Given the description of an element on the screen output the (x, y) to click on. 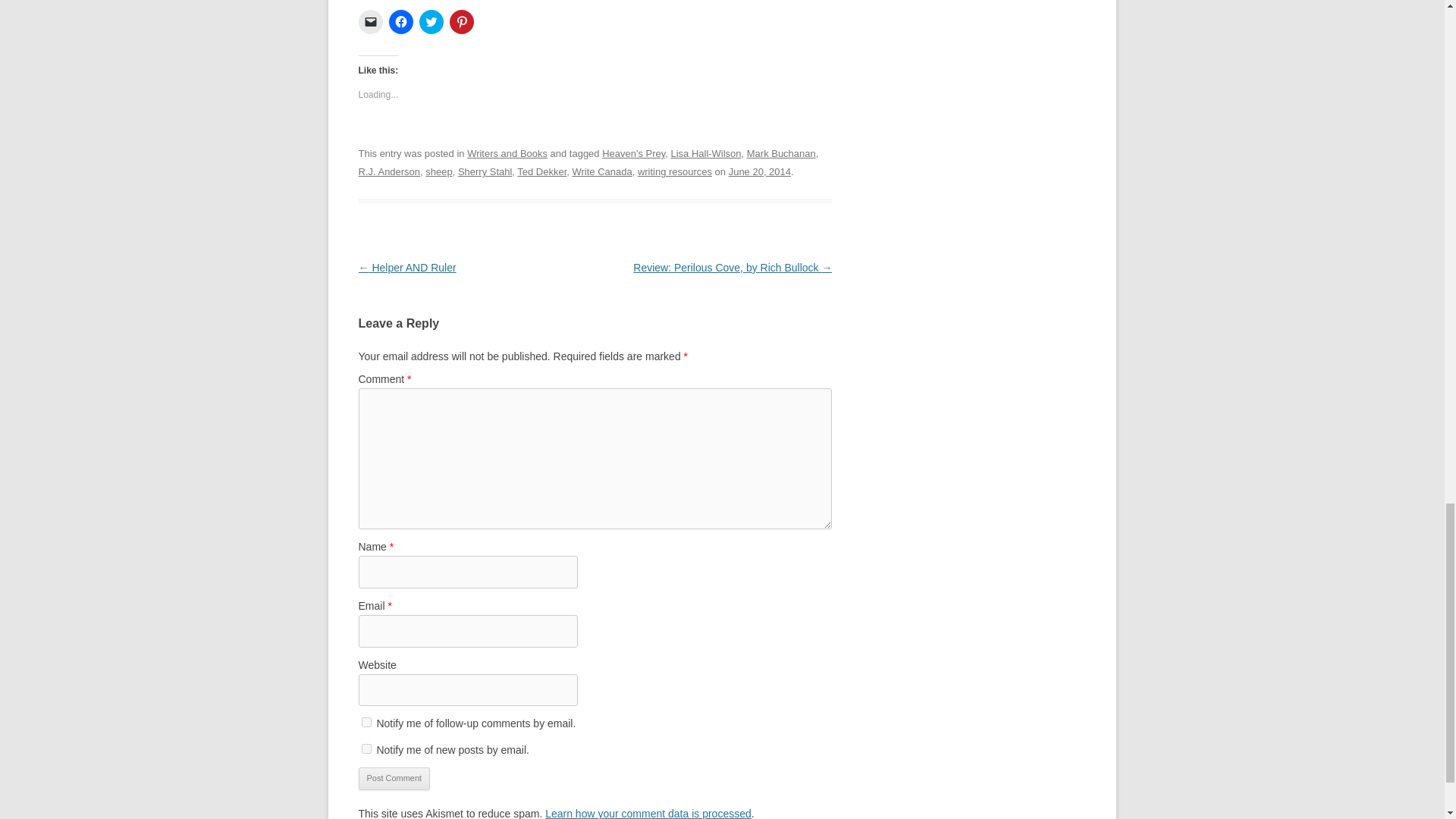
subscribe (366, 722)
subscribe (366, 748)
Post Comment (393, 778)
